Given the description of an element on the screen output the (x, y) to click on. 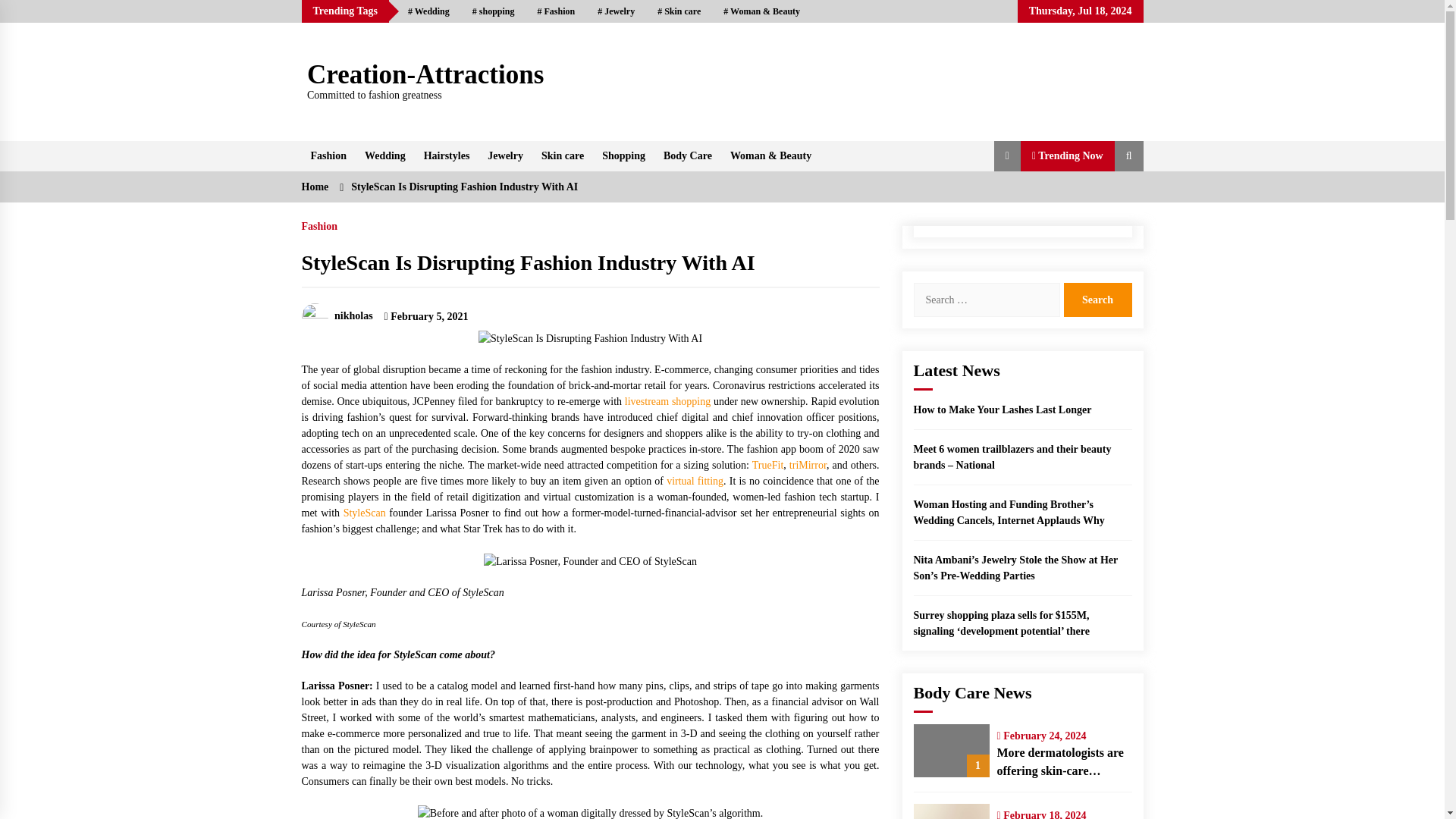
Search (1096, 299)
Body Care (686, 155)
Skin care (678, 11)
Search (1096, 299)
Jewelry (616, 11)
StyleScan Is Disrupting Fashion Industry With AI (590, 338)
Creation-Attractions (425, 74)
Fashion (555, 11)
Shopping (622, 155)
Fashion (328, 155)
Hairstyles (446, 155)
Wedding (428, 11)
Skin care (562, 155)
Wedding (384, 155)
Jewelry (505, 155)
